Given the description of an element on the screen output the (x, y) to click on. 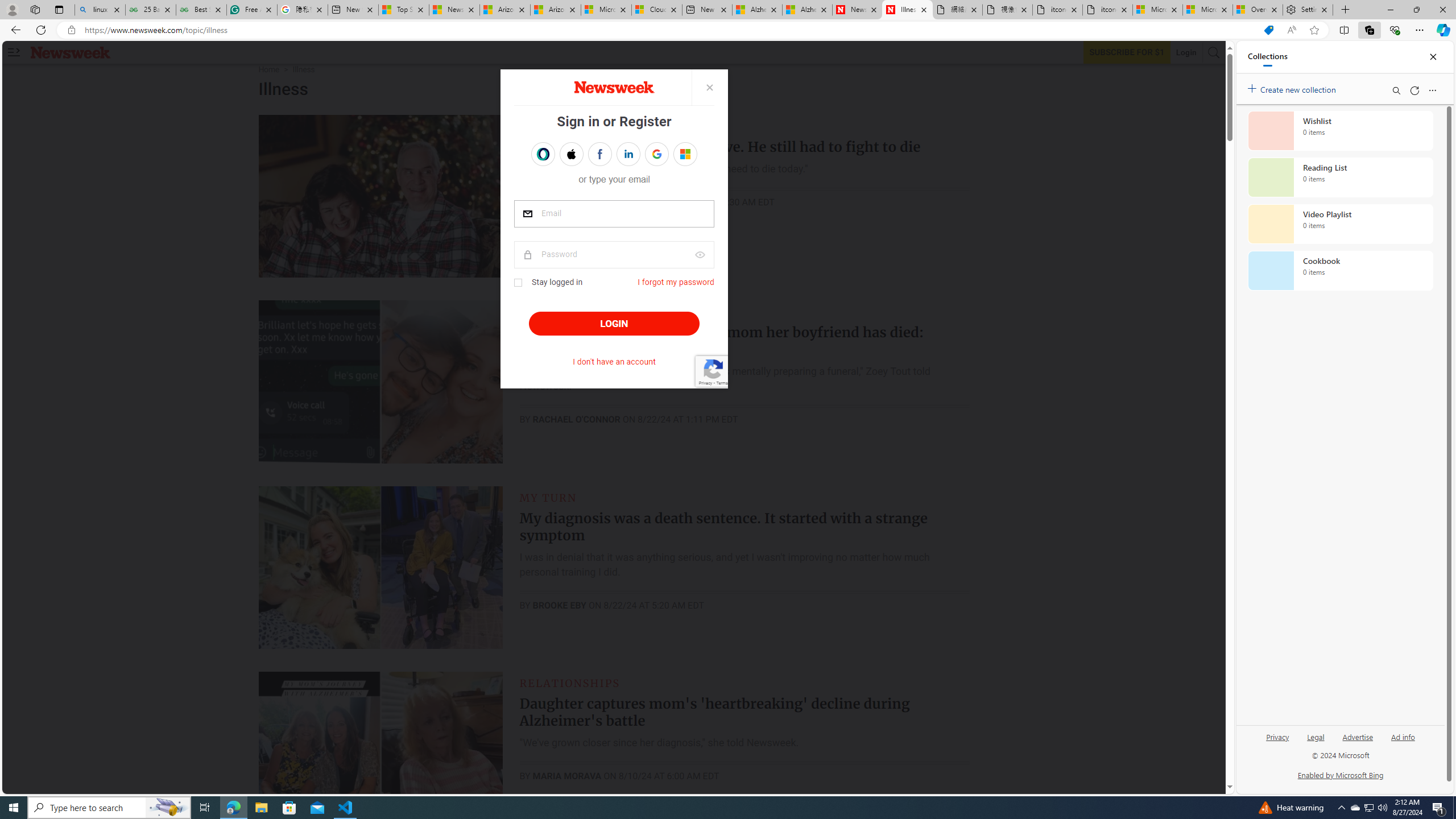
Newsweek logo (70, 51)
Sign in as Eugene EugeneLedger601@outlook.com (684, 154)
email (613, 213)
Free AI Writing Assistance for Students | Grammarly (251, 9)
